Given the description of an element on the screen output the (x, y) to click on. 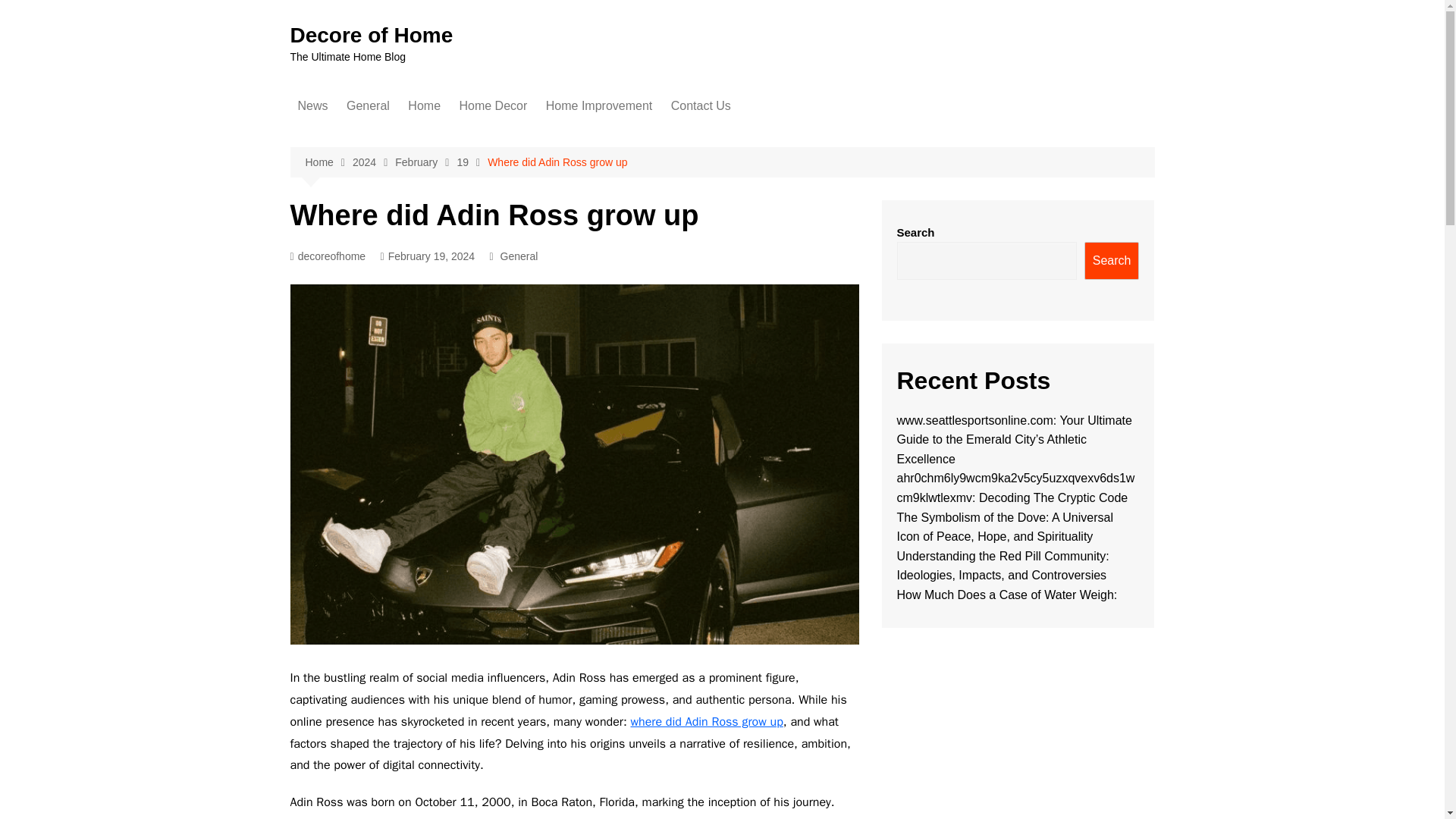
Home Decor (492, 105)
DISCLAIMER (746, 249)
Home (424, 105)
Write For Us (746, 161)
About Us (746, 136)
Home Improvement (599, 105)
Privacy Policy (746, 274)
February 19, 2024 (428, 256)
Home (328, 162)
Cookies Policy (746, 224)
